Given the description of an element on the screen output the (x, y) to click on. 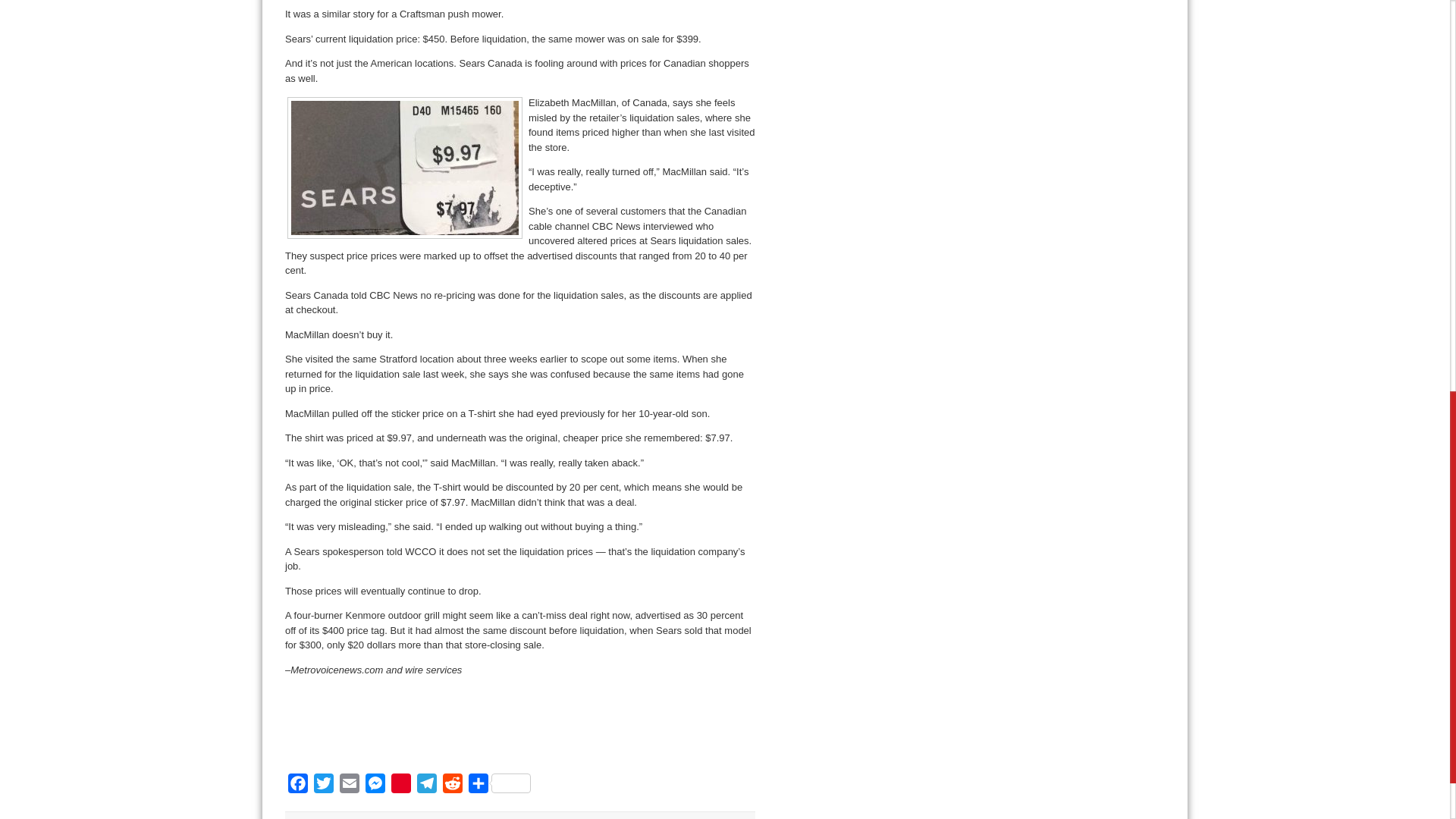
Facebook (298, 786)
